Given the description of an element on the screen output the (x, y) to click on. 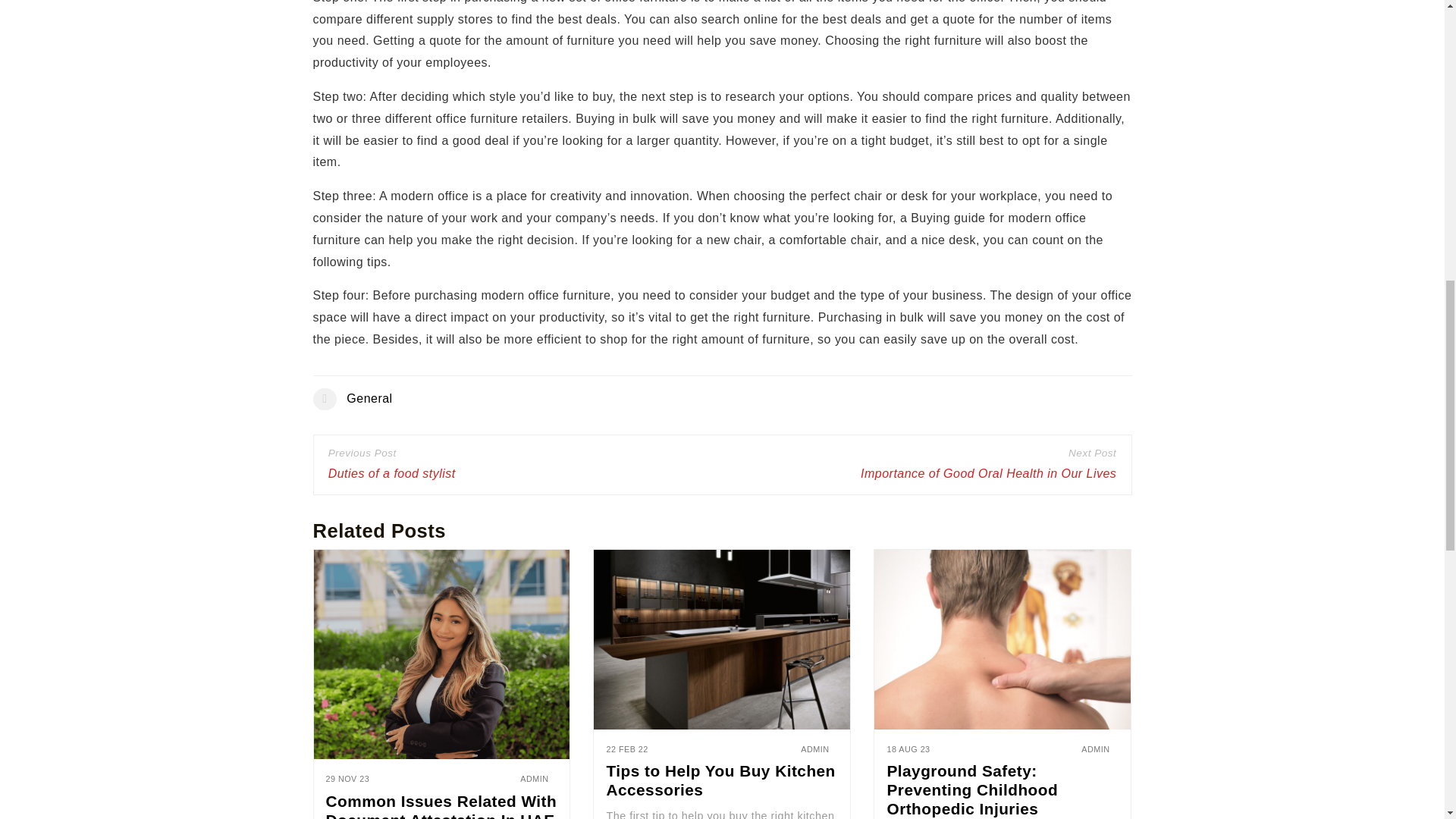
Duties of a food stylist (392, 474)
ADMIN (1095, 748)
ADMIN (814, 748)
Tips to Help You Buy Kitchen Accessories (719, 780)
Playground Safety: Preventing Childhood Orthopedic Injuries (972, 789)
Common Issues Related With Document Attestation In UAE (441, 805)
22 FEB 22 (626, 749)
Importance of Good Oral Health in Our Lives (988, 474)
18 AUG 23 (908, 749)
General (368, 398)
ADMIN (533, 777)
29 NOV 23 (347, 779)
